Given the description of an element on the screen output the (x, y) to click on. 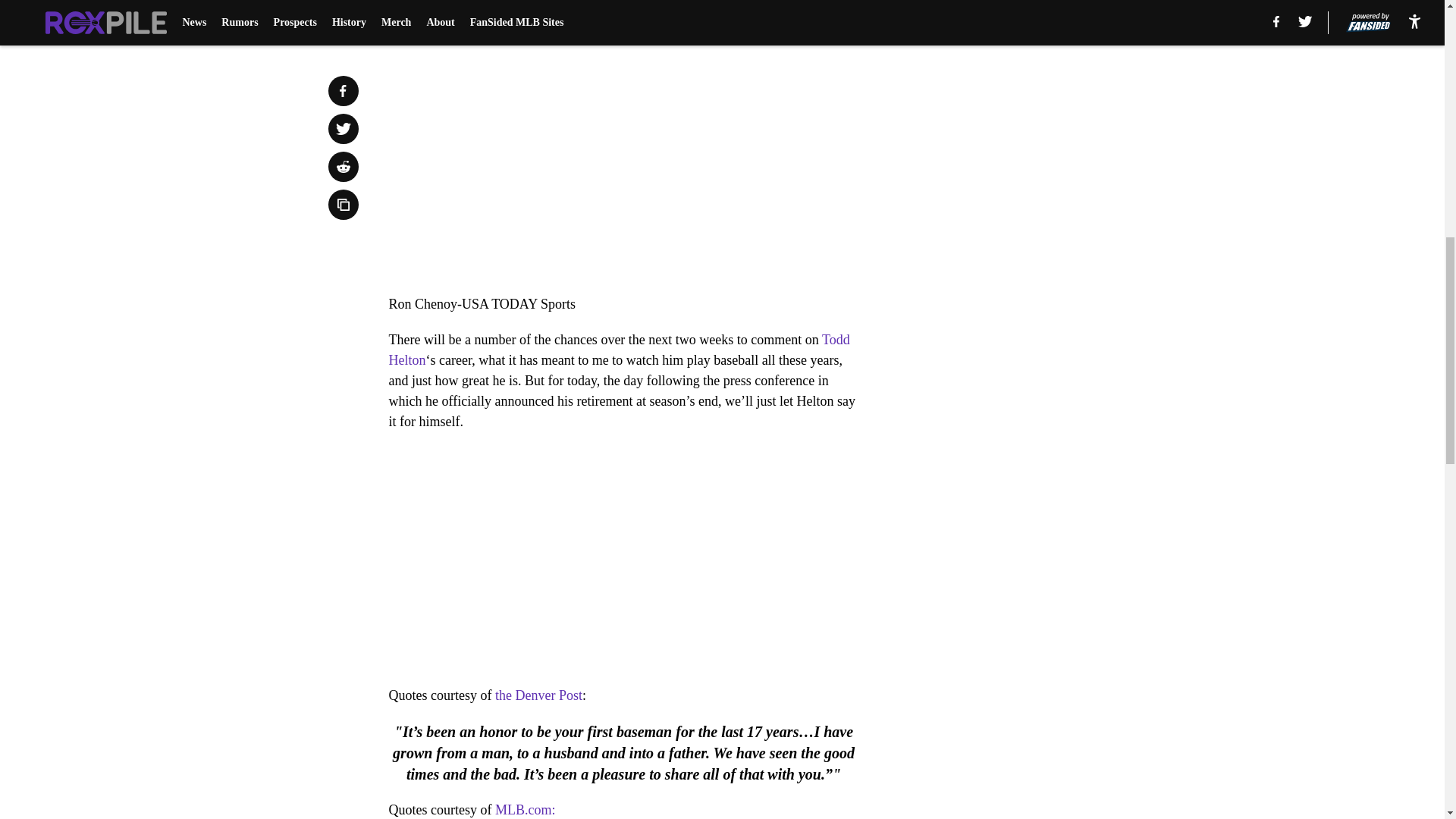
the Denver Post (538, 694)
MLB.com: (525, 809)
Todd Helton (618, 349)
